Given the description of an element on the screen output the (x, y) to click on. 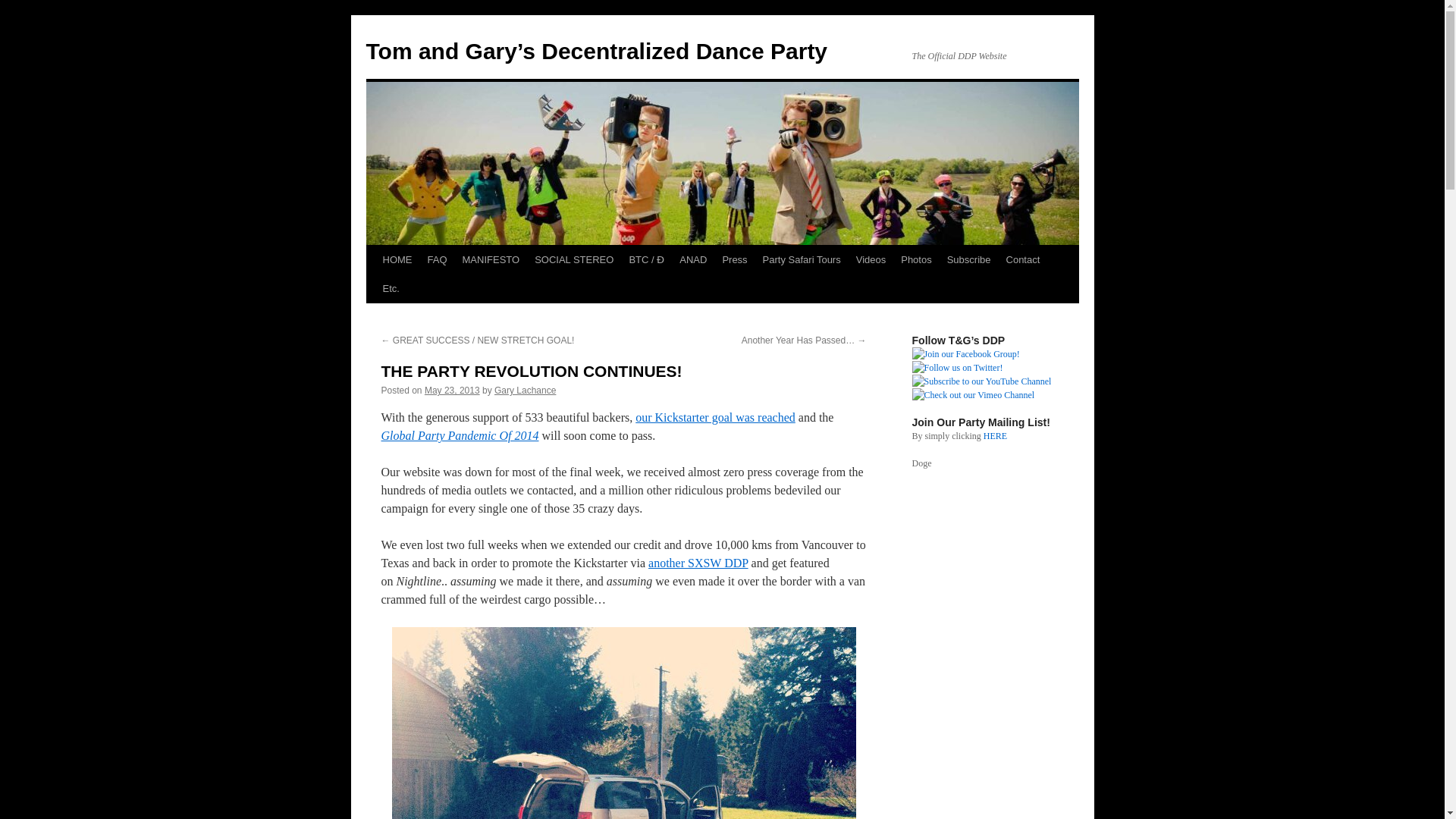
View all posts by Gary Lachance (525, 389)
Subscribe (968, 259)
FAQ (437, 259)
ANAD (692, 259)
Videos (870, 259)
HOME (396, 259)
7:52 pm (452, 389)
Photos (916, 259)
MANIFESTO (490, 259)
SOCIAL STEREO (574, 259)
